Given the description of an element on the screen output the (x, y) to click on. 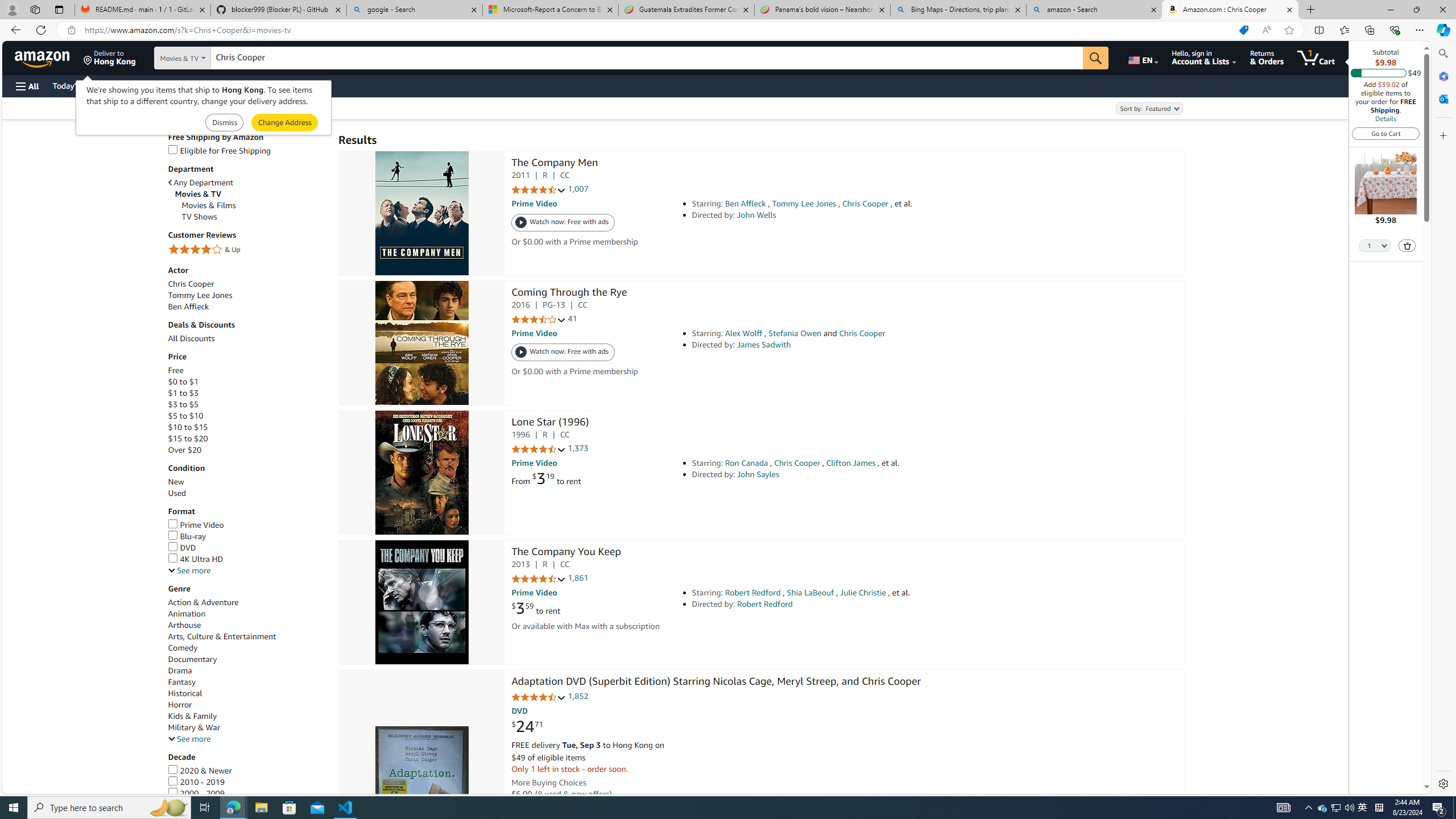
The Company Men (554, 163)
The Company You Keep (421, 602)
Delete (1407, 245)
See more, Genre (189, 738)
2010 - 2019 (195, 781)
Arthouse (183, 624)
Amazon (43, 57)
Historical (184, 692)
Arts, Culture & Entertainment (247, 636)
$3 to $5 (247, 404)
Over $20 (184, 449)
DVD (247, 547)
